Given the description of an element on the screen output the (x, y) to click on. 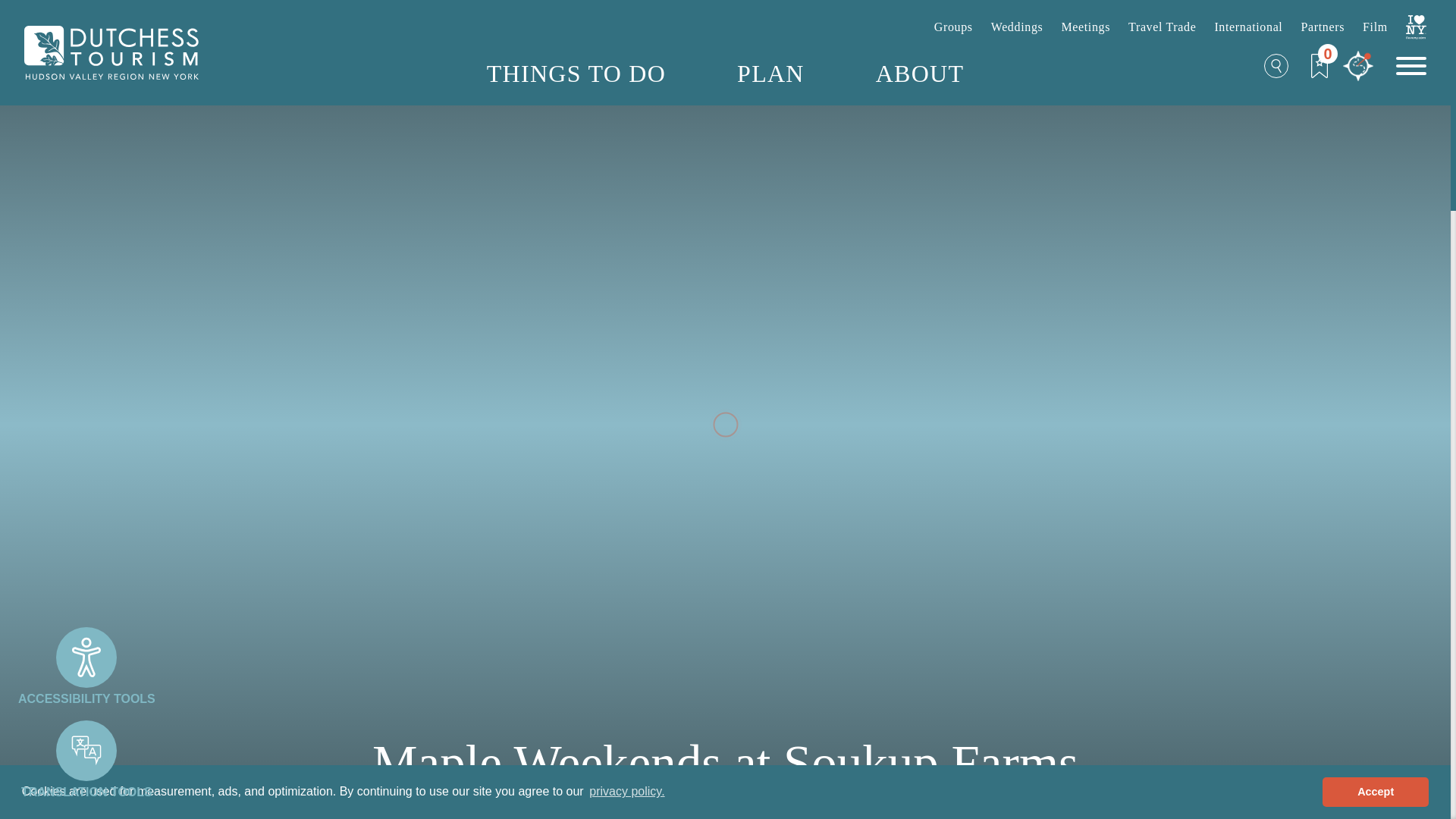
Groups (953, 27)
International (1248, 27)
privacy policy. (626, 791)
PLAN (770, 73)
Partners (1321, 27)
Film (1374, 27)
THINGS TO DO (575, 73)
Travel Trade (1161, 27)
Weddings (1017, 27)
Meetings (1085, 27)
ABOUT (919, 73)
Accept (1375, 791)
